Given the description of an element on the screen output the (x, y) to click on. 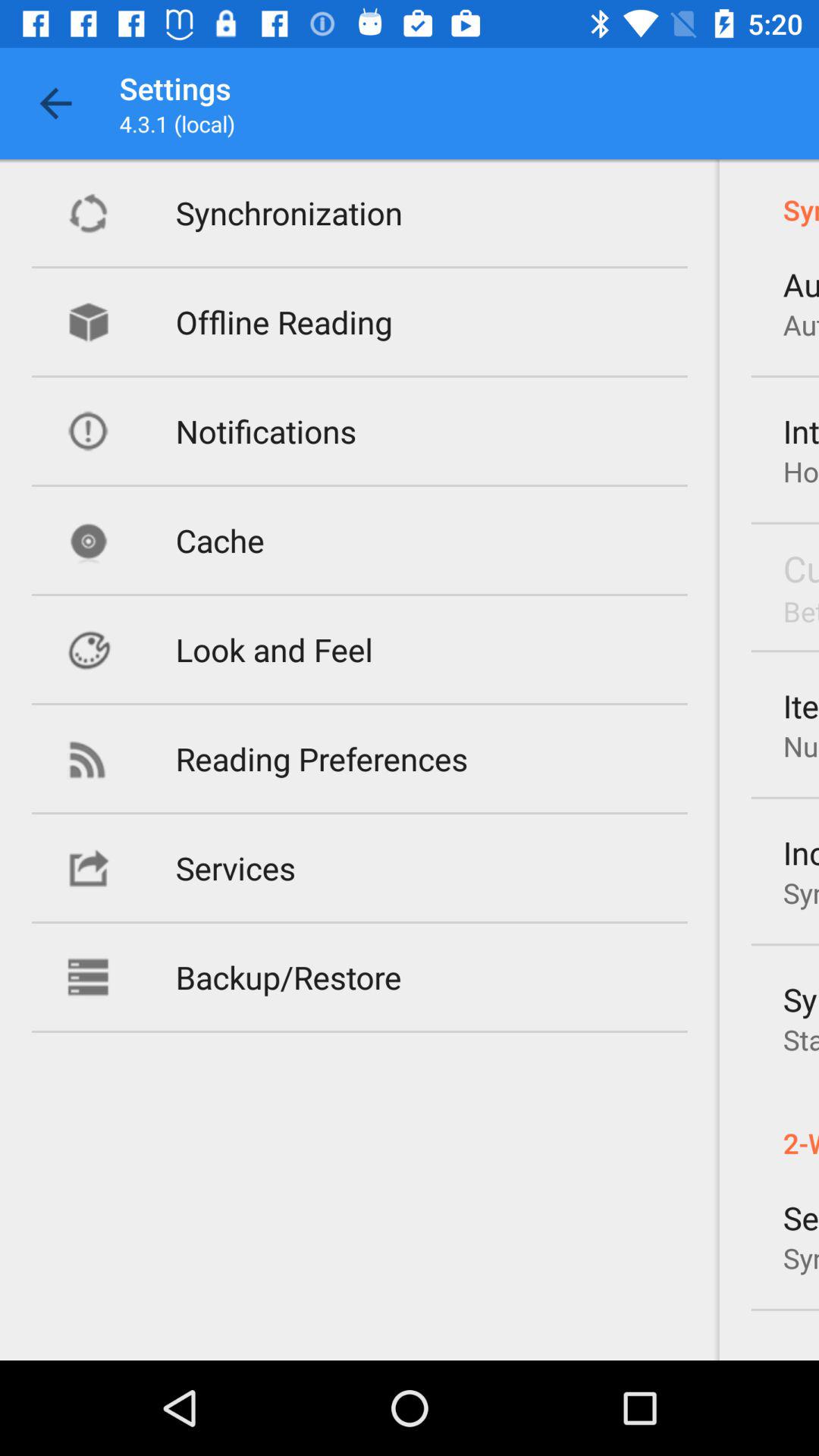
launch item above custom interval item (801, 471)
